Given the description of an element on the screen output the (x, y) to click on. 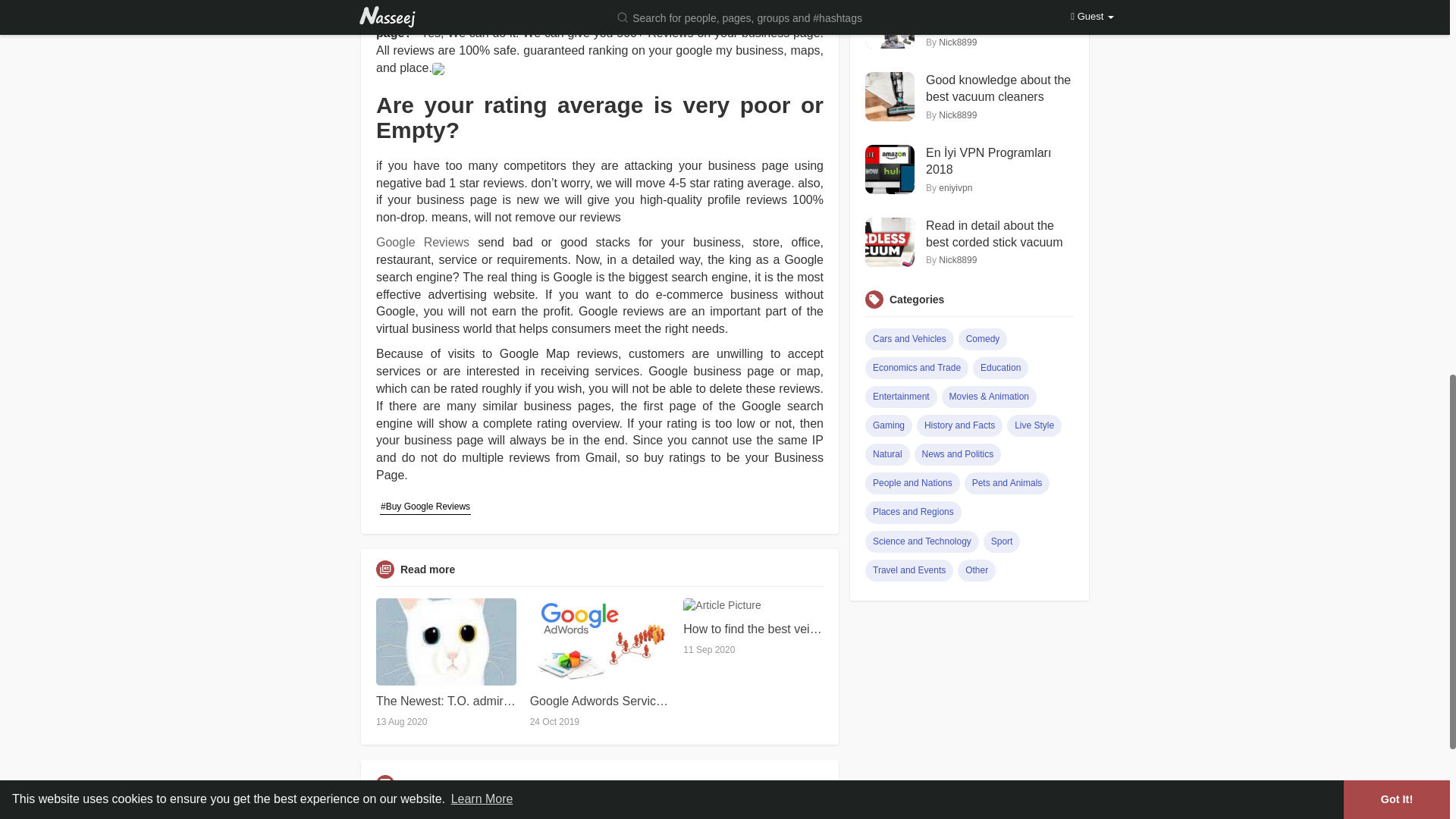
Google Reviews (421, 241)
eniyivpn (955, 187)
Google Adwords Services - Sathya Technosoft (599, 701)
How to find the best vein doctor (753, 629)
Nick8899 (957, 114)
What are the list of the best vacuum cleaners (1000, 16)
Nick8899 (957, 41)
Good knowledge about the best vacuum cleaners (1000, 89)
